Given the description of an element on the screen output the (x, y) to click on. 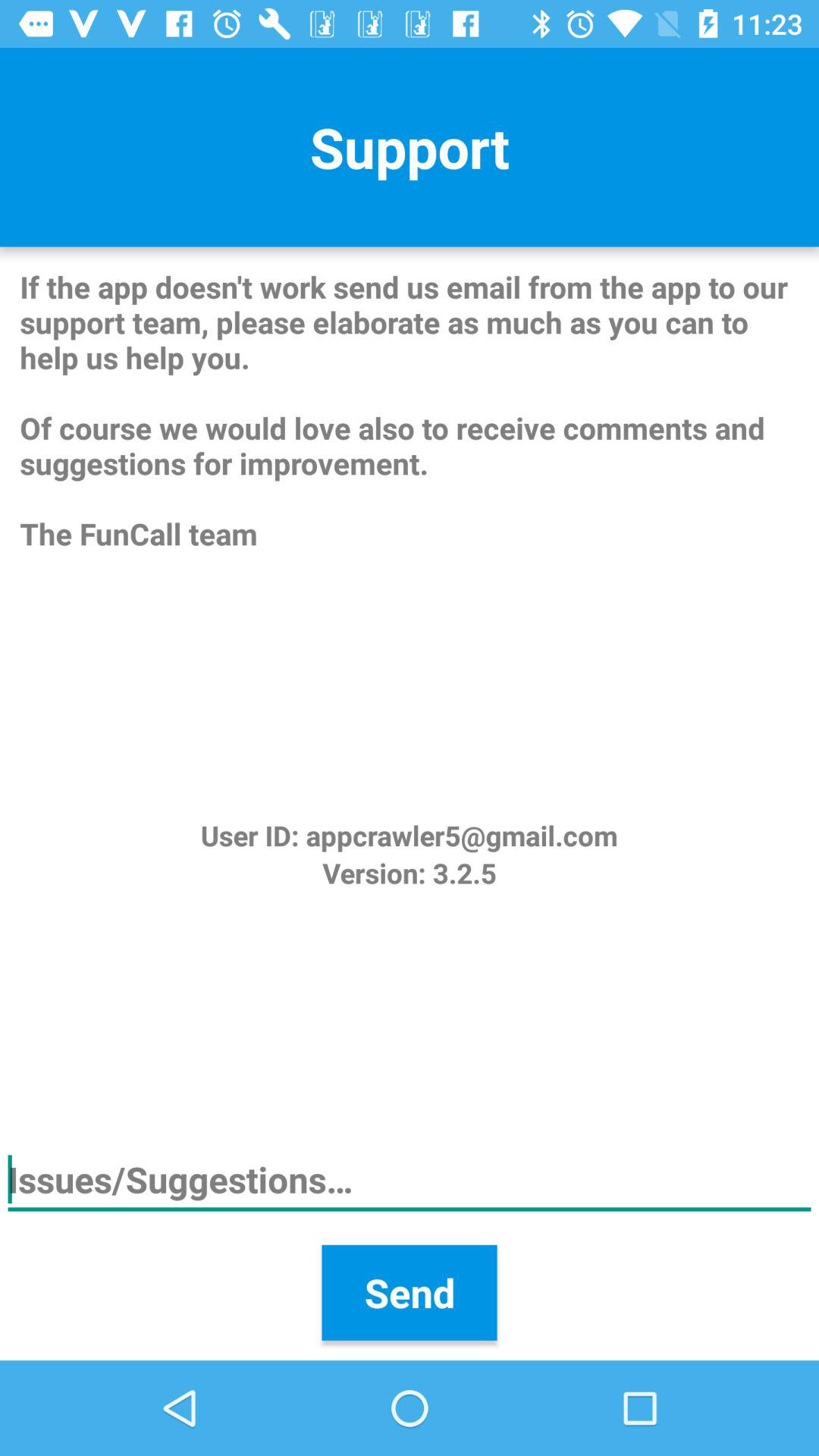
launch the item above the version 3 2 item (408, 835)
